Given the description of an element on the screen output the (x, y) to click on. 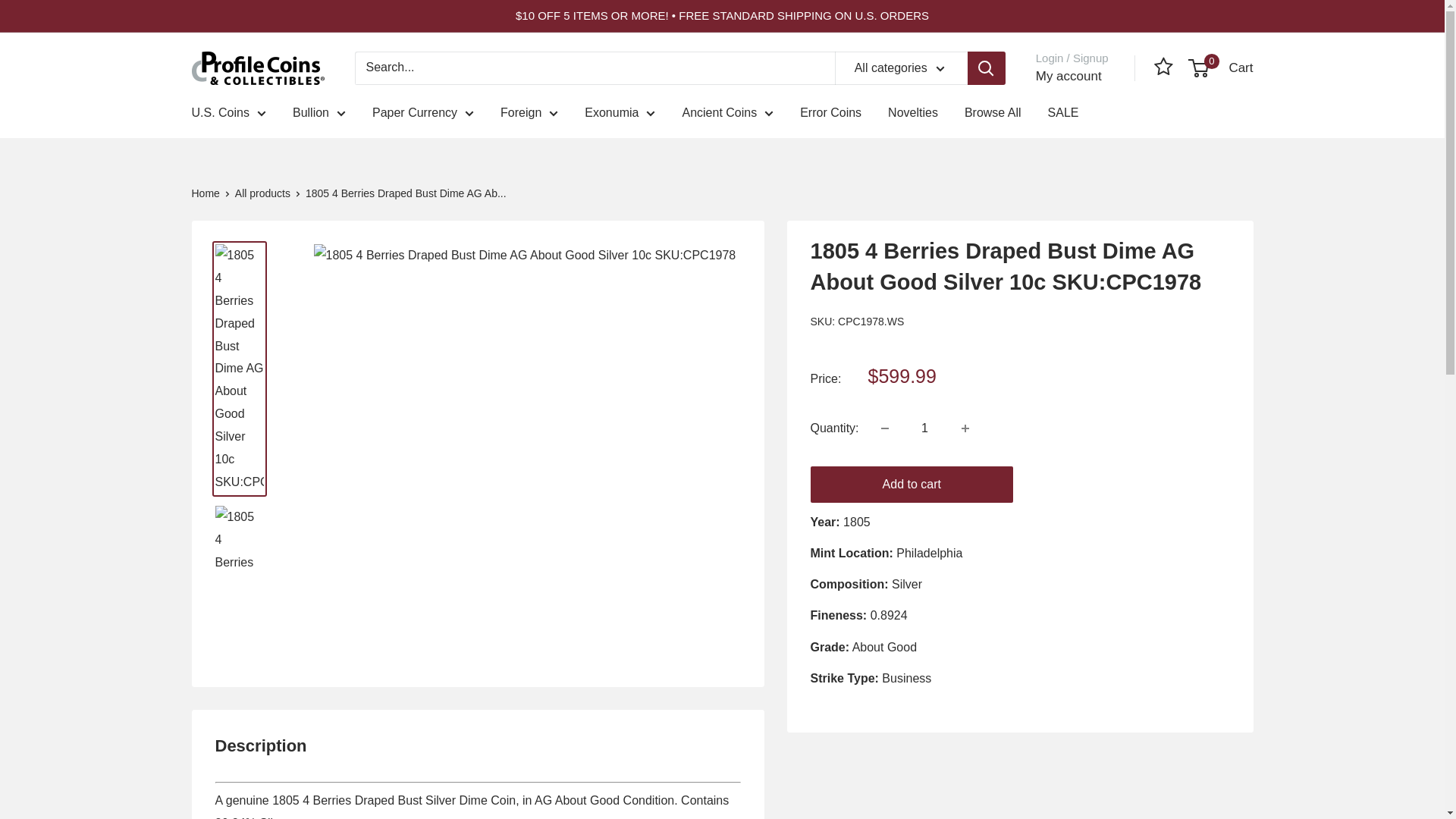
Increase quantity by 1 (965, 428)
1 (925, 428)
Decrease quantity by 1 (885, 428)
